Given the description of an element on the screen output the (x, y) to click on. 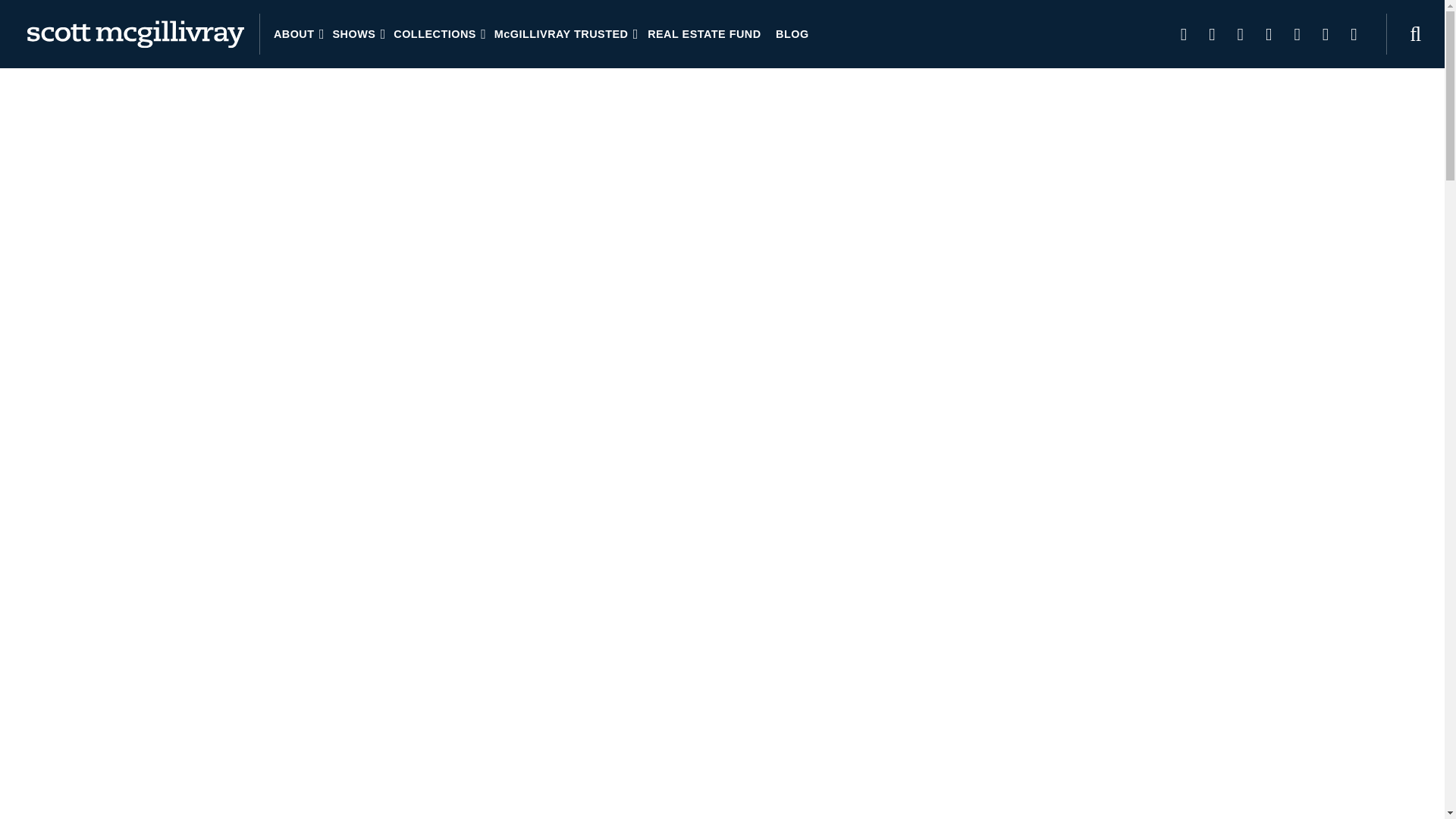
McGILLIVRAY TRUSTED (564, 33)
Scott McGillivray (135, 33)
REAL ESTATE FUND (704, 33)
COLLECTIONS (438, 33)
Toggle Menu (30, 33)
Scott McGillivray (135, 33)
